Given the description of an element on the screen output the (x, y) to click on. 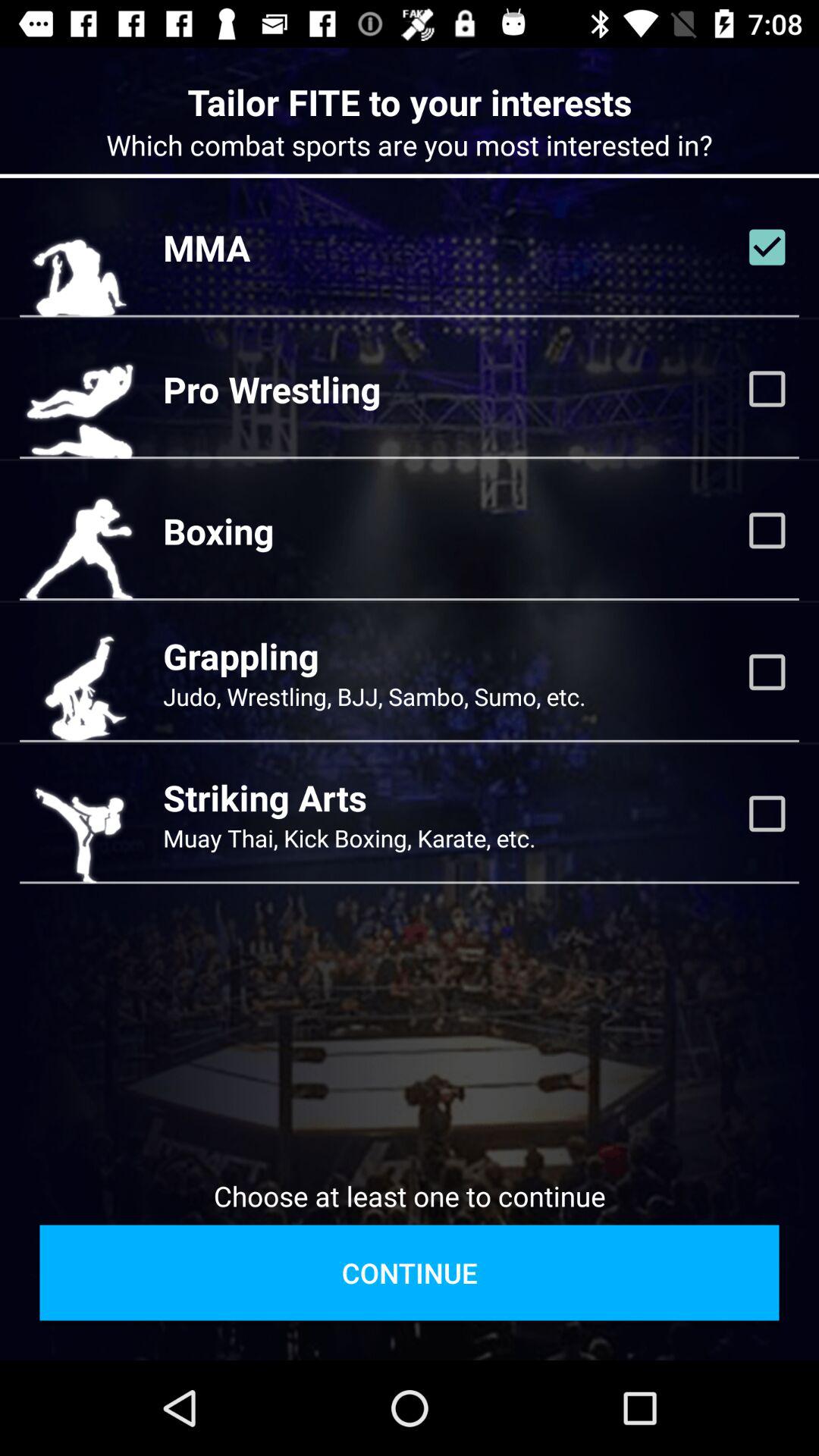
check information box (767, 247)
